Given the description of an element on the screen output the (x, y) to click on. 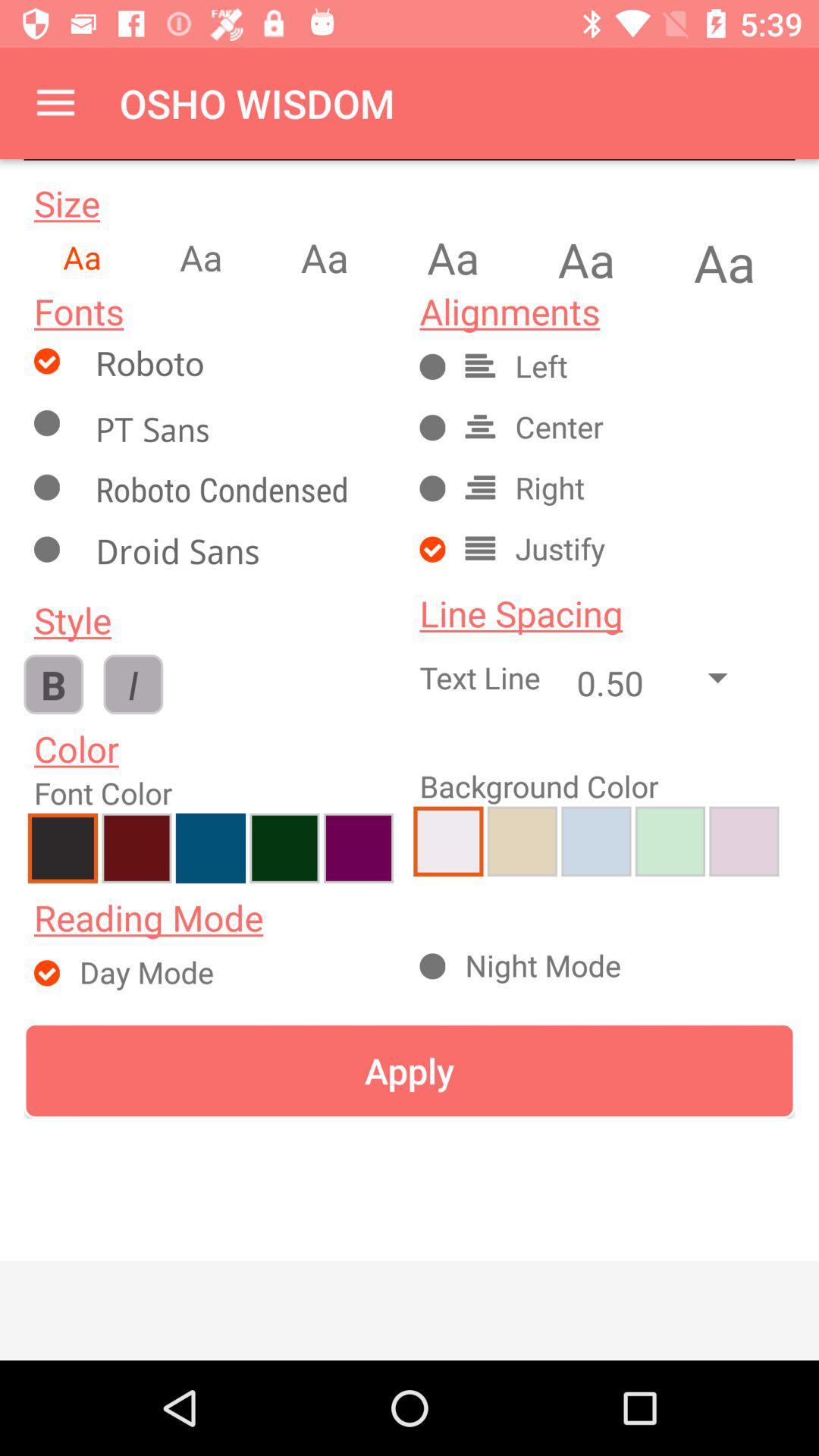
make background color yellow (522, 841)
